Given the description of an element on the screen output the (x, y) to click on. 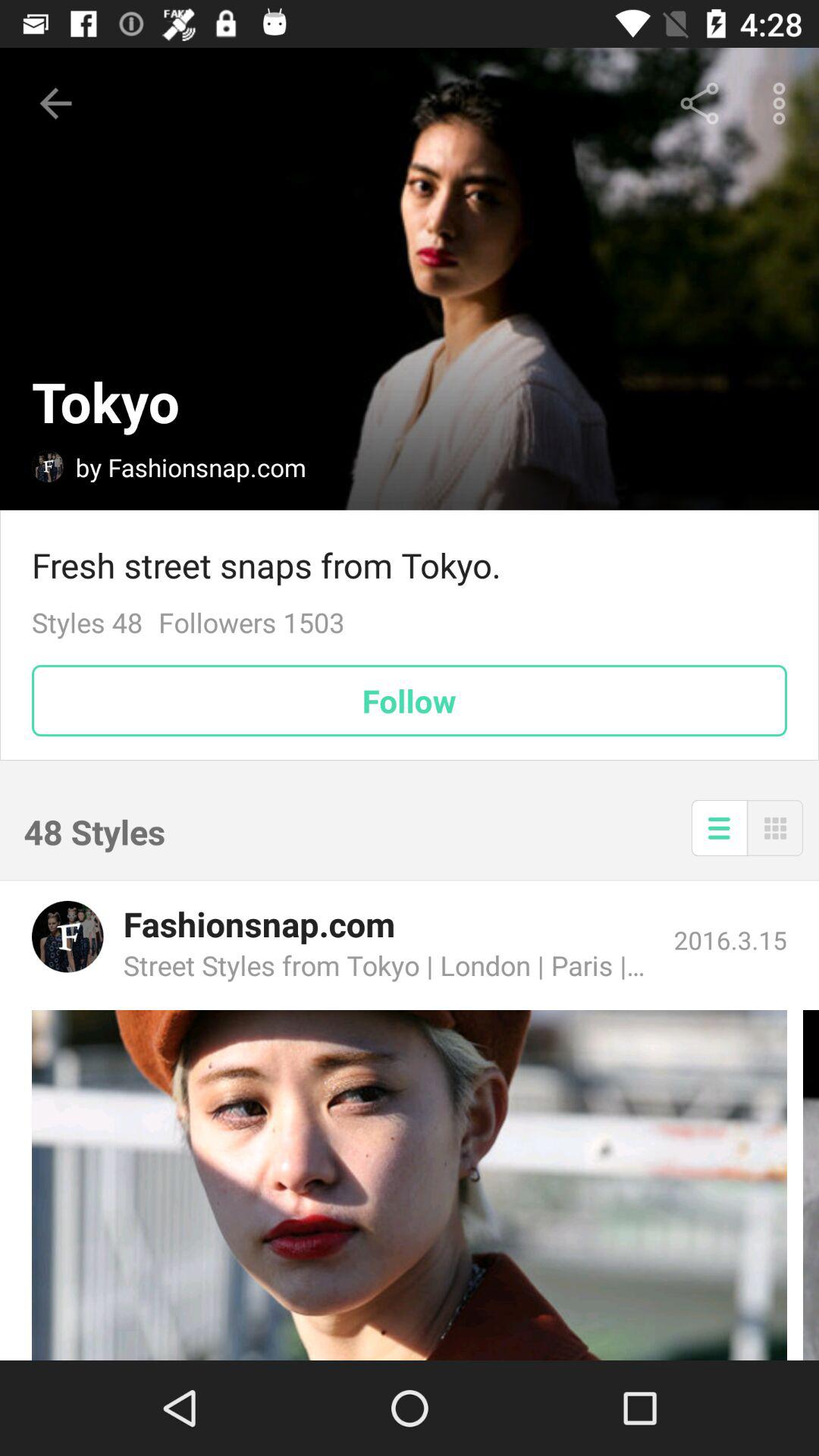
change view to grid (775, 827)
